Given the description of an element on the screen output the (x, y) to click on. 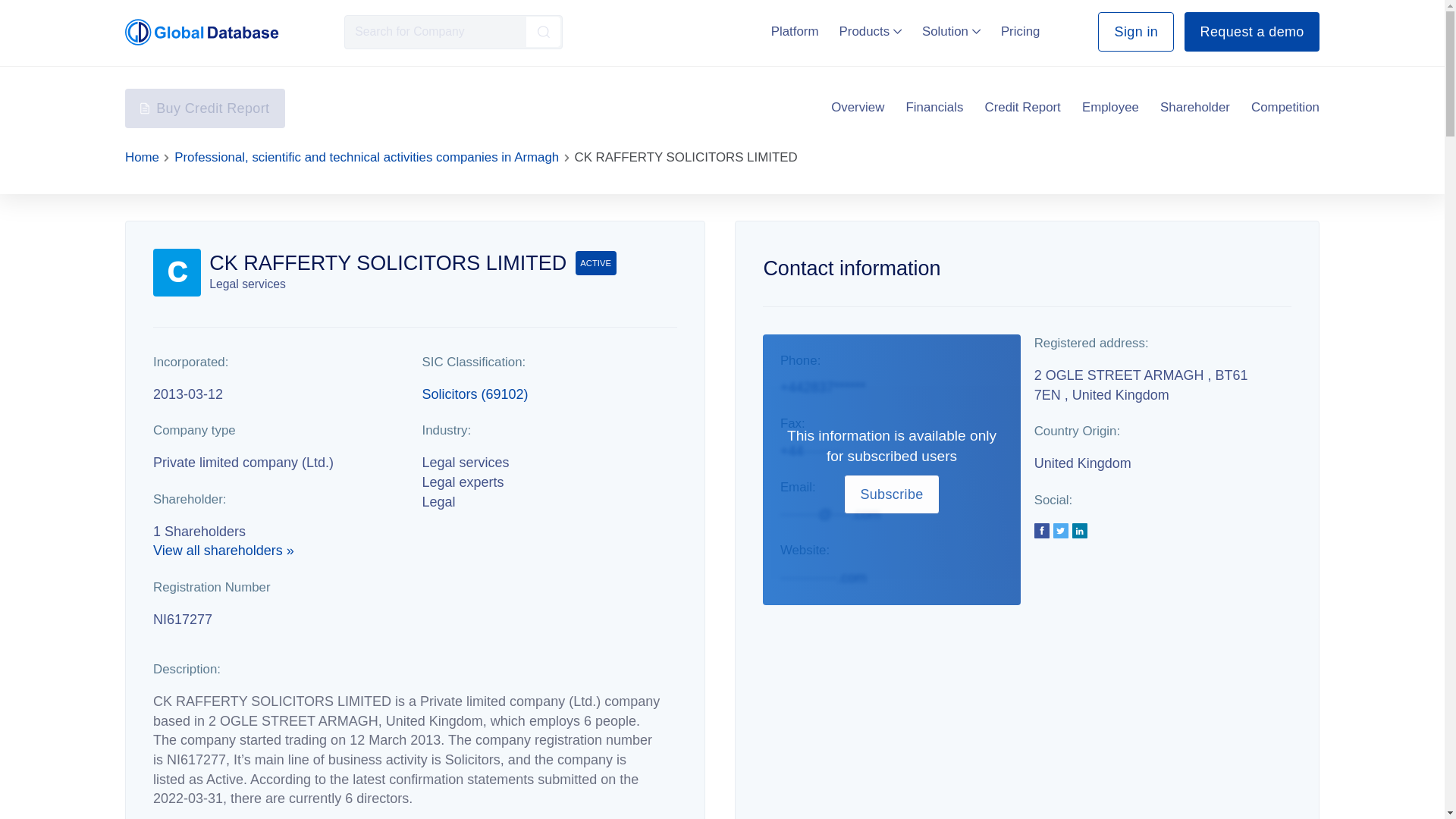
Request a demo (1252, 31)
Financials (934, 107)
Credit Report (1023, 107)
Employee (1109, 107)
Sign in (1135, 31)
Platform (794, 31)
Pricing (1021, 31)
Buy Credit Report (205, 107)
Shareholder (1195, 107)
Overview (857, 107)
